Given the description of an element on the screen output the (x, y) to click on. 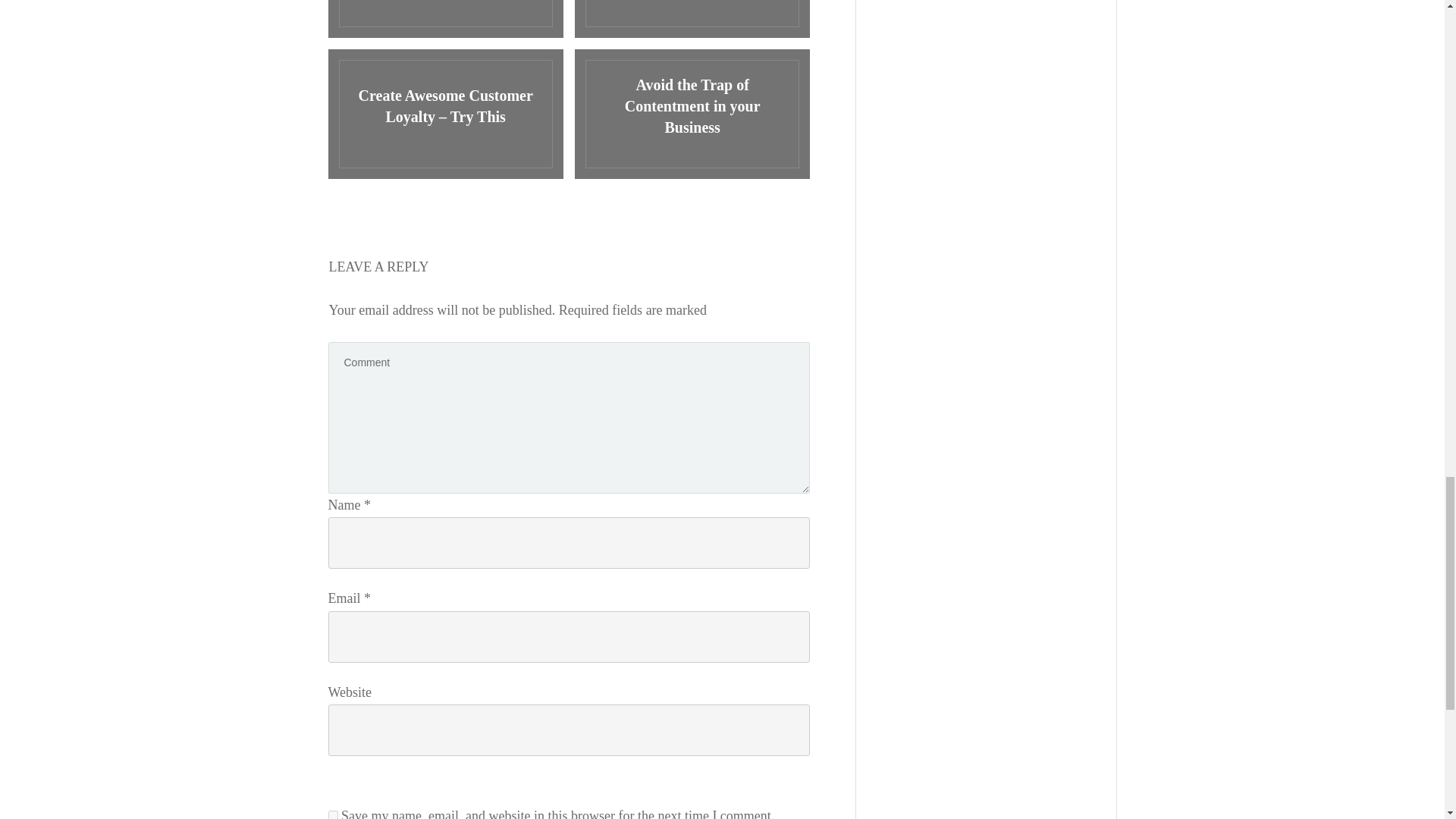
Why You Should Pick a Niche for Your Small Business (444, 18)
Are you struggling to build a business? (692, 18)
yes (332, 814)
Avoid the Trap of Contentment in your Business (692, 114)
